Given the description of an element on the screen output the (x, y) to click on. 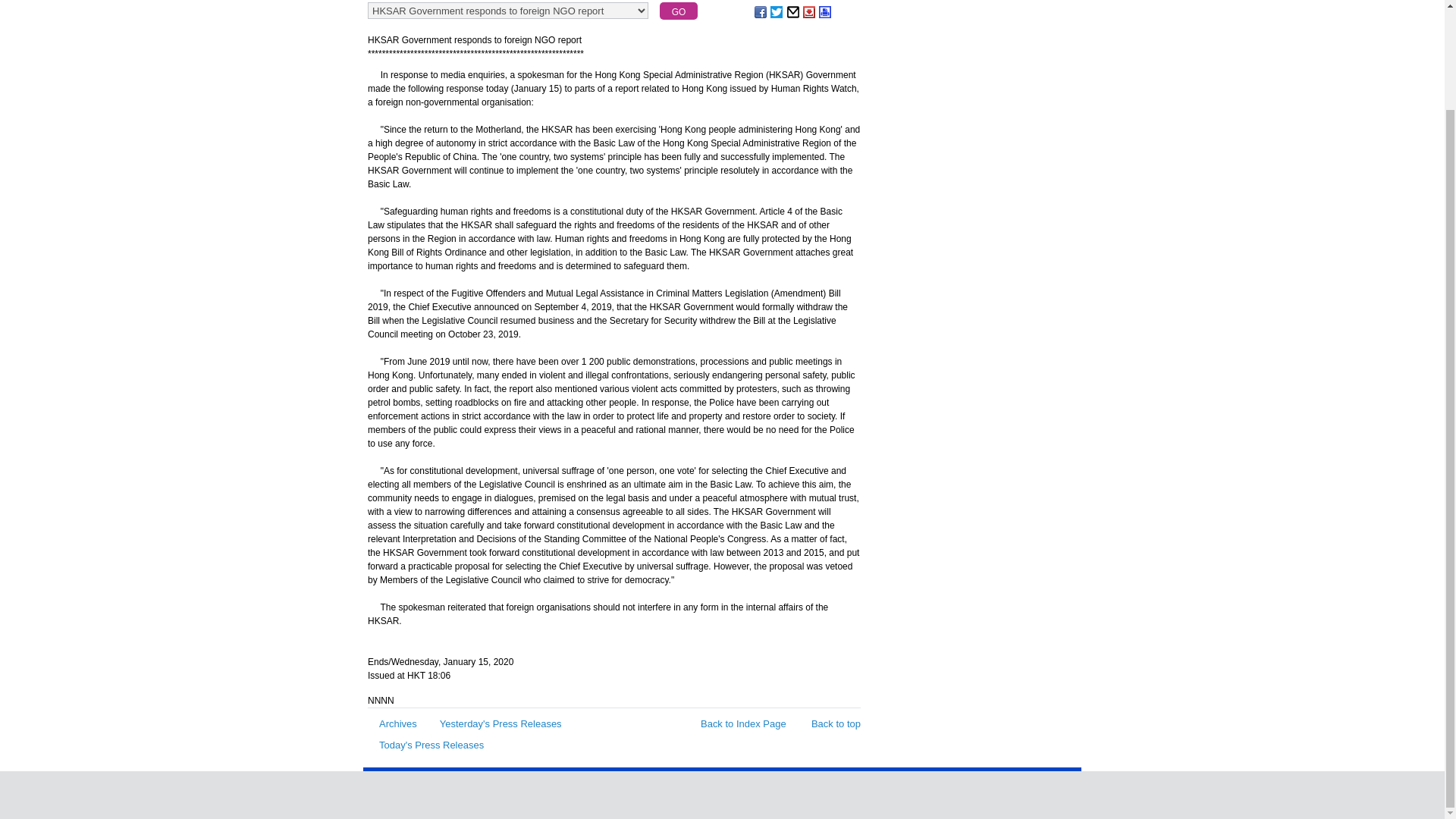
Print (825, 11)
Yesterday's Press Releases (495, 723)
GO (678, 10)
Email (793, 11)
Web Accessibility Recognition Scheme (974, 791)
GO (678, 10)
Back to top (828, 723)
Back to Index Page (737, 723)
Share on Twitter (777, 11)
Archives (392, 723)
